Given the description of an element on the screen output the (x, y) to click on. 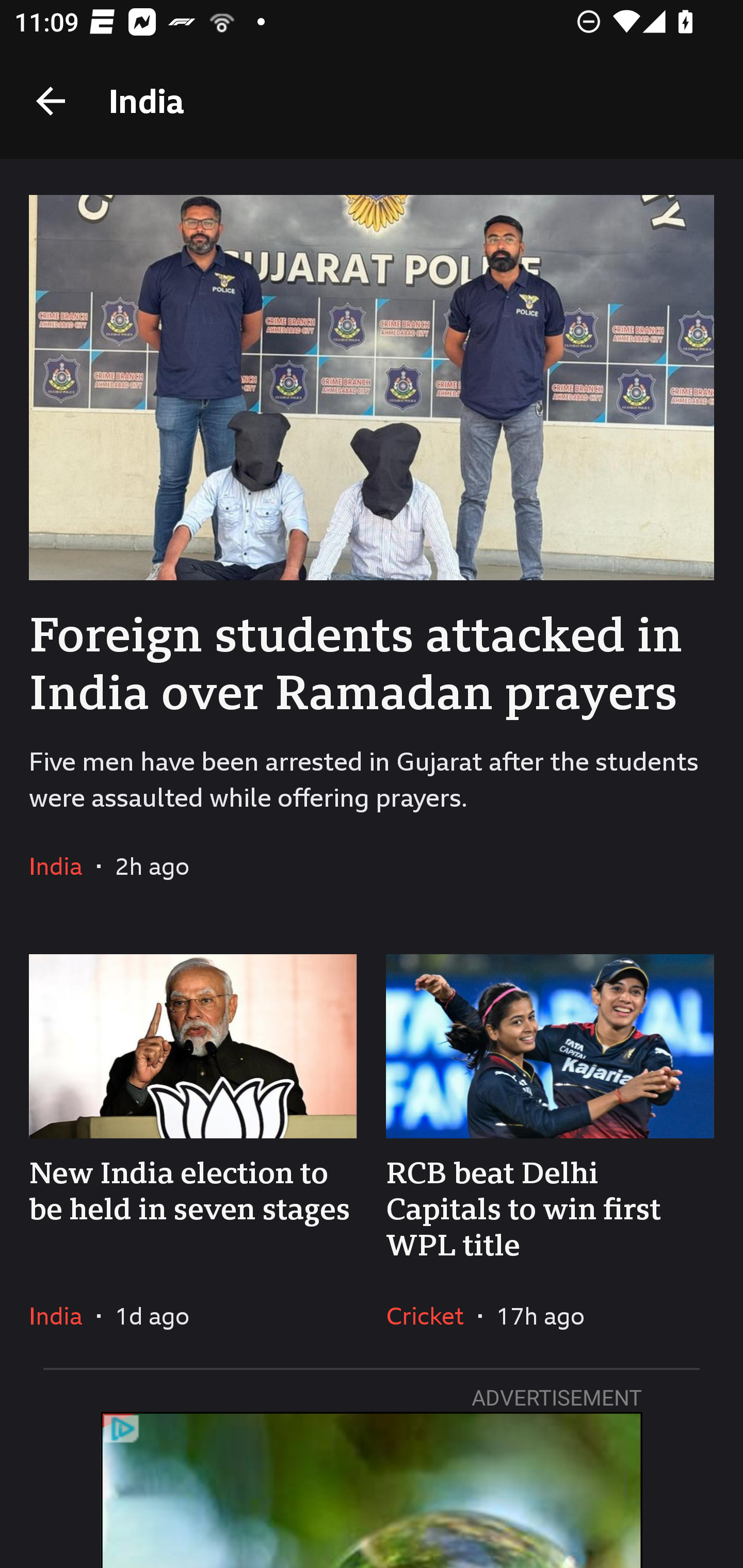
Back (50, 101)
India In the section India (62, 865)
India In the section India (62, 1315)
Cricket In the section Cricket (431, 1315)
